Given the description of an element on the screen output the (x, y) to click on. 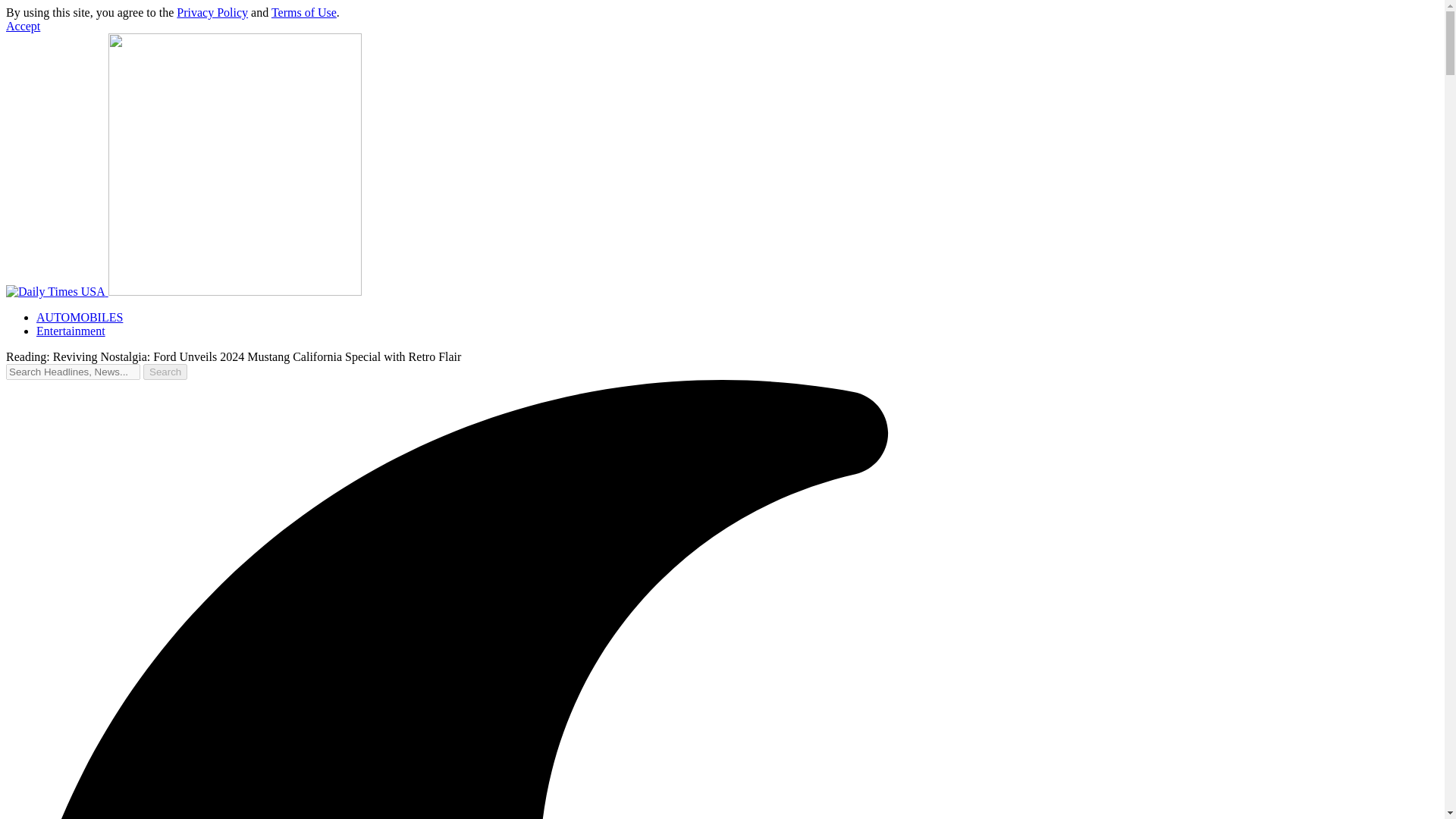
Search (164, 371)
Privacy Policy (211, 11)
Search (164, 371)
Accept (22, 25)
AUTOMOBILES (79, 317)
Terms of Use (303, 11)
Entertainment (70, 330)
